Given the description of an element on the screen output the (x, y) to click on. 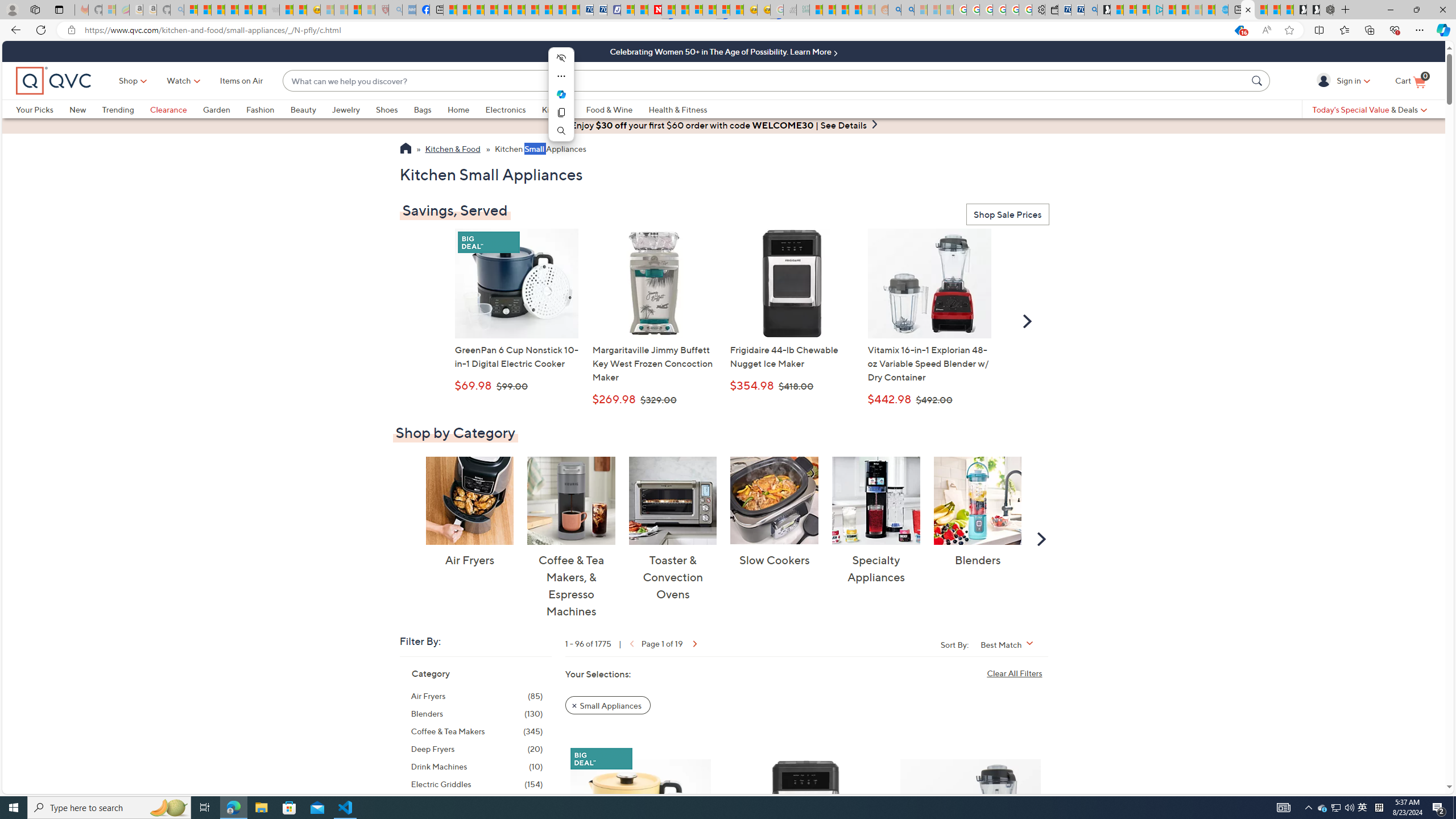
Microsoft-Report a Concern to Bing - Sleeping (108, 9)
14 Common Myths Debunked By Scientific Facts (682, 9)
New (76, 109)
QVC home (53, 80)
DITOGAMES AG Imprint - Sleeping (802, 9)
